Given the description of an element on the screen output the (x, y) to click on. 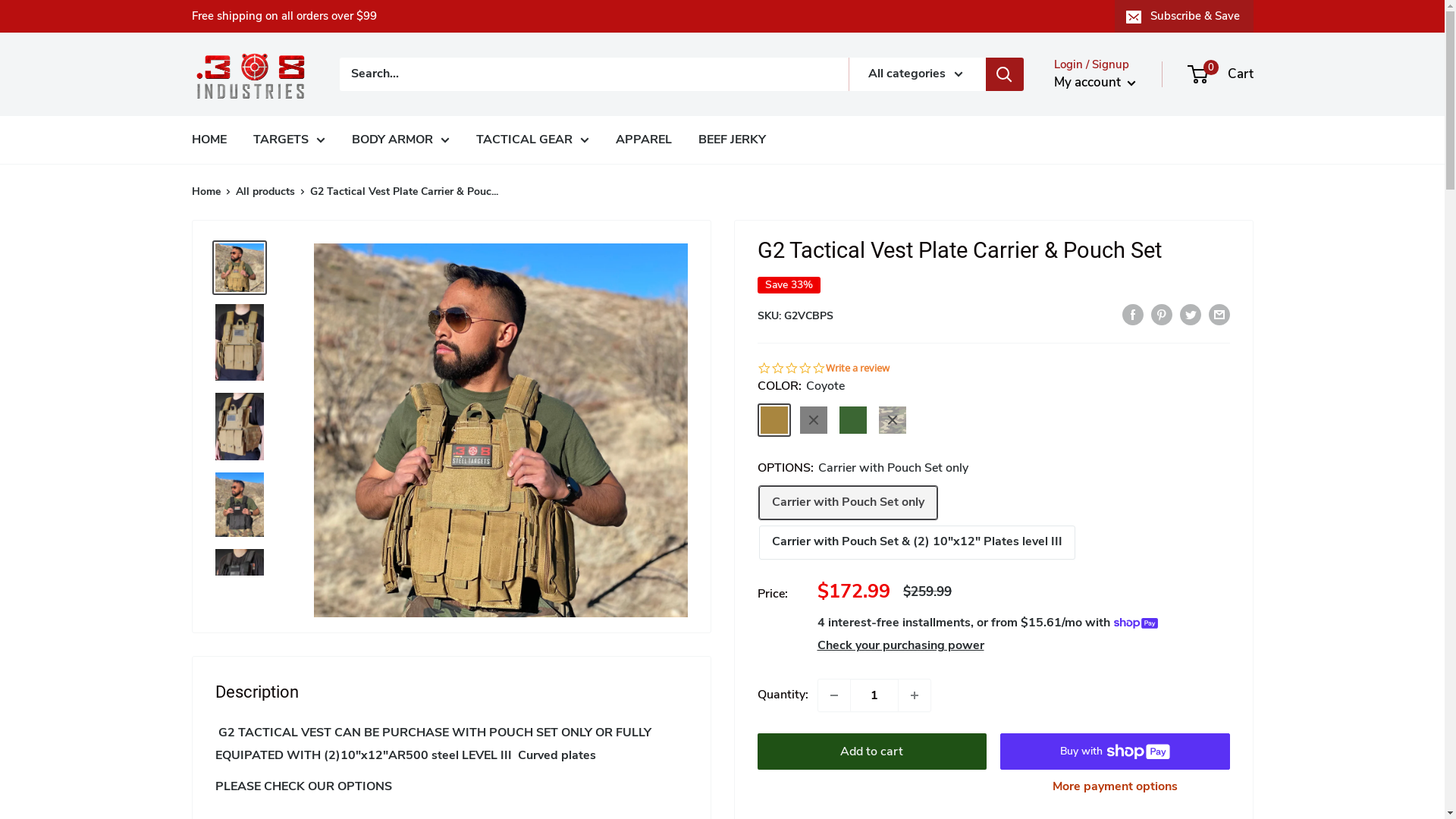
Decrease quantity by 1 Element type: hover (833, 695)
308Industries Element type: text (249, 73)
TACTICAL GEAR Element type: text (532, 139)
APPAREL Element type: text (643, 139)
TARGETS Element type: text (289, 139)
Write a review Element type: text (856, 368)
Subscribe & Save Element type: text (1183, 15)
BODY ARMOR Element type: text (400, 139)
HOME Element type: text (208, 139)
Add to cart Element type: text (871, 751)
More payment options Element type: text (1115, 786)
All products Element type: text (264, 191)
My account Element type: text (1094, 82)
BEEF JERKY Element type: text (731, 139)
0
Cart Element type: text (1221, 74)
Home Element type: text (205, 191)
Increase quantity by 1 Element type: hover (913, 695)
